Given the description of an element on the screen output the (x, y) to click on. 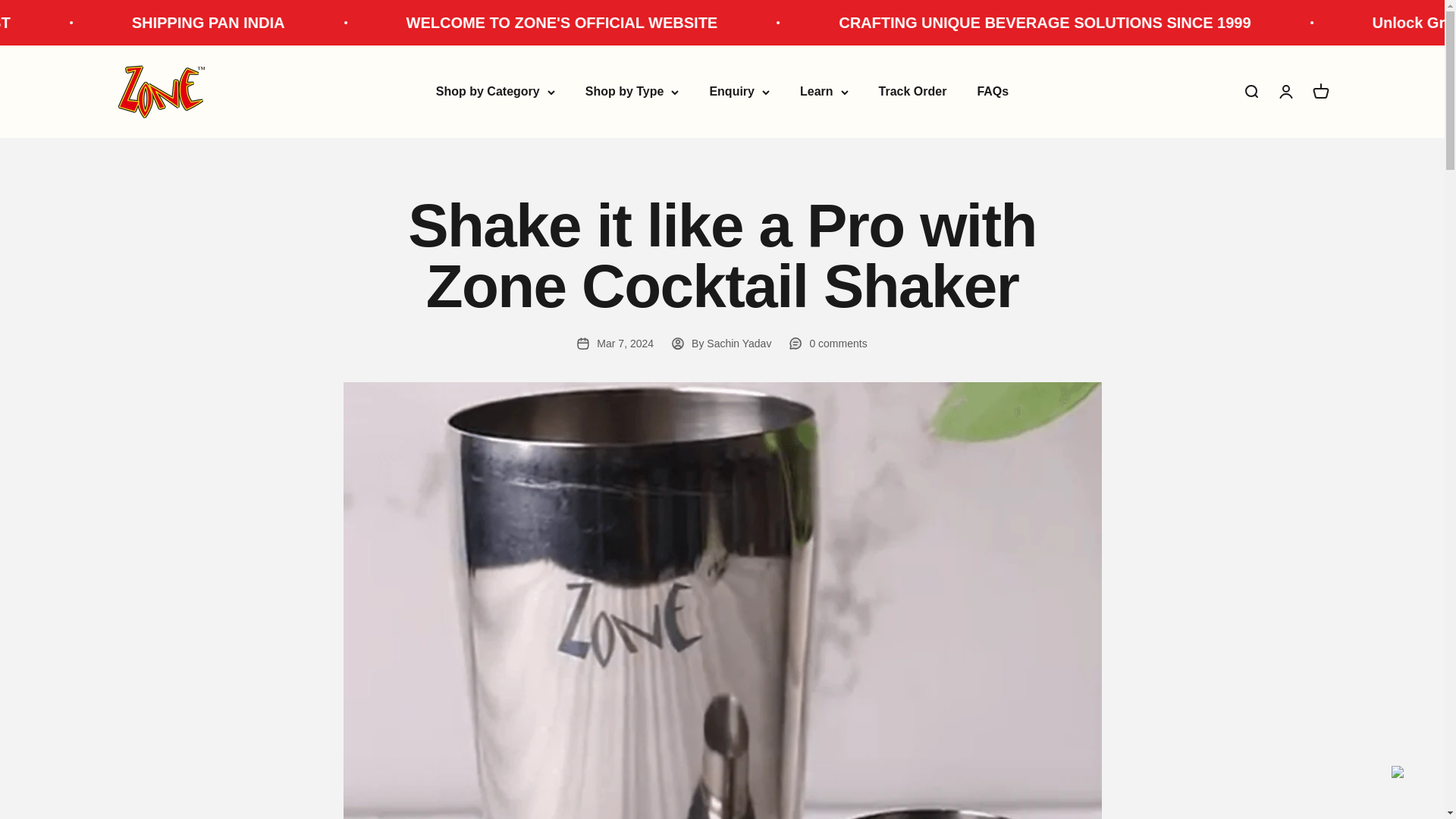
Enquiry (739, 91)
Shop by Category (494, 91)
Shop by Type (632, 91)
